Given the description of an element on the screen output the (x, y) to click on. 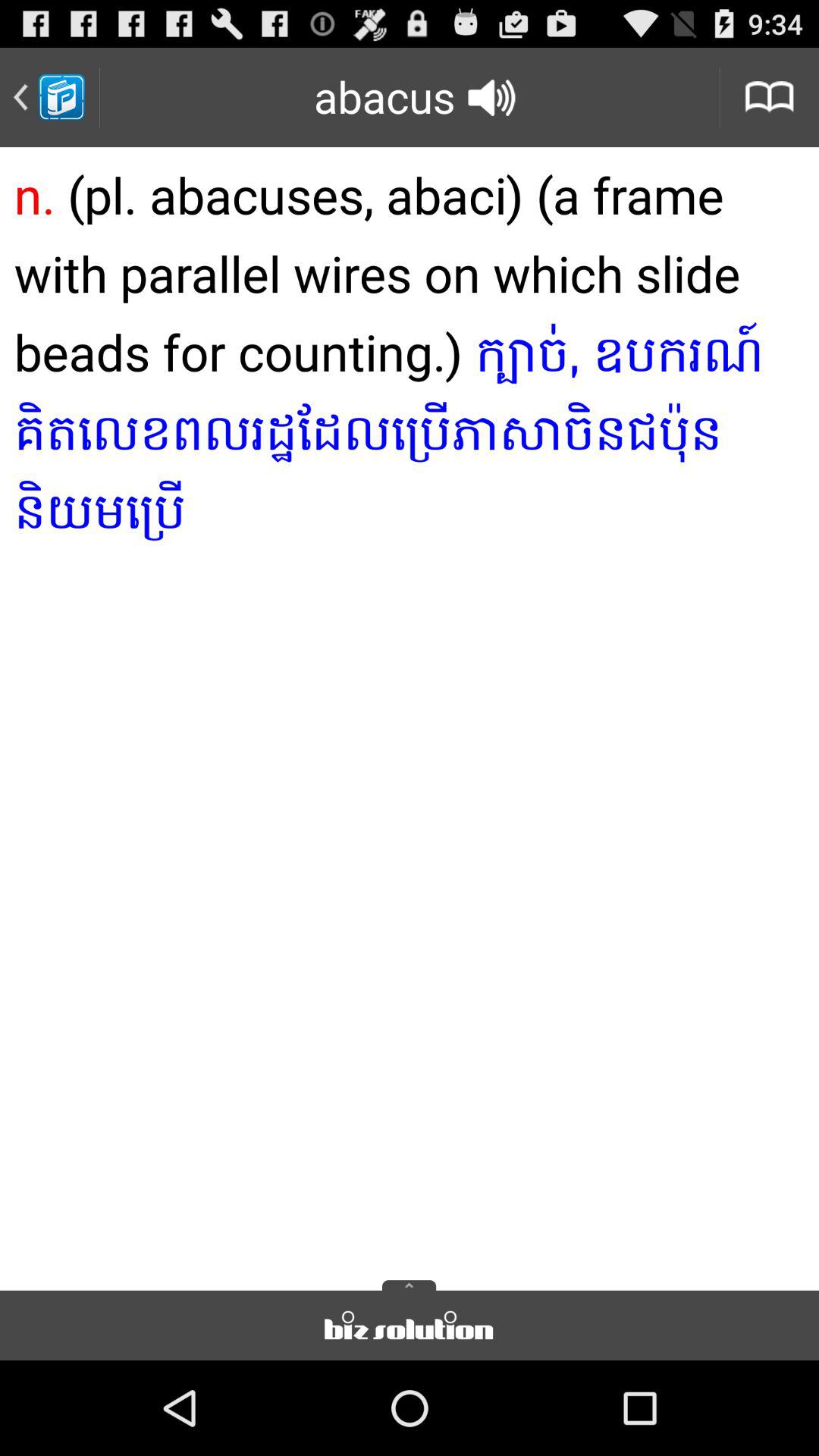
swipe until the n pl abacuses item (409, 713)
